Given the description of an element on the screen output the (x, y) to click on. 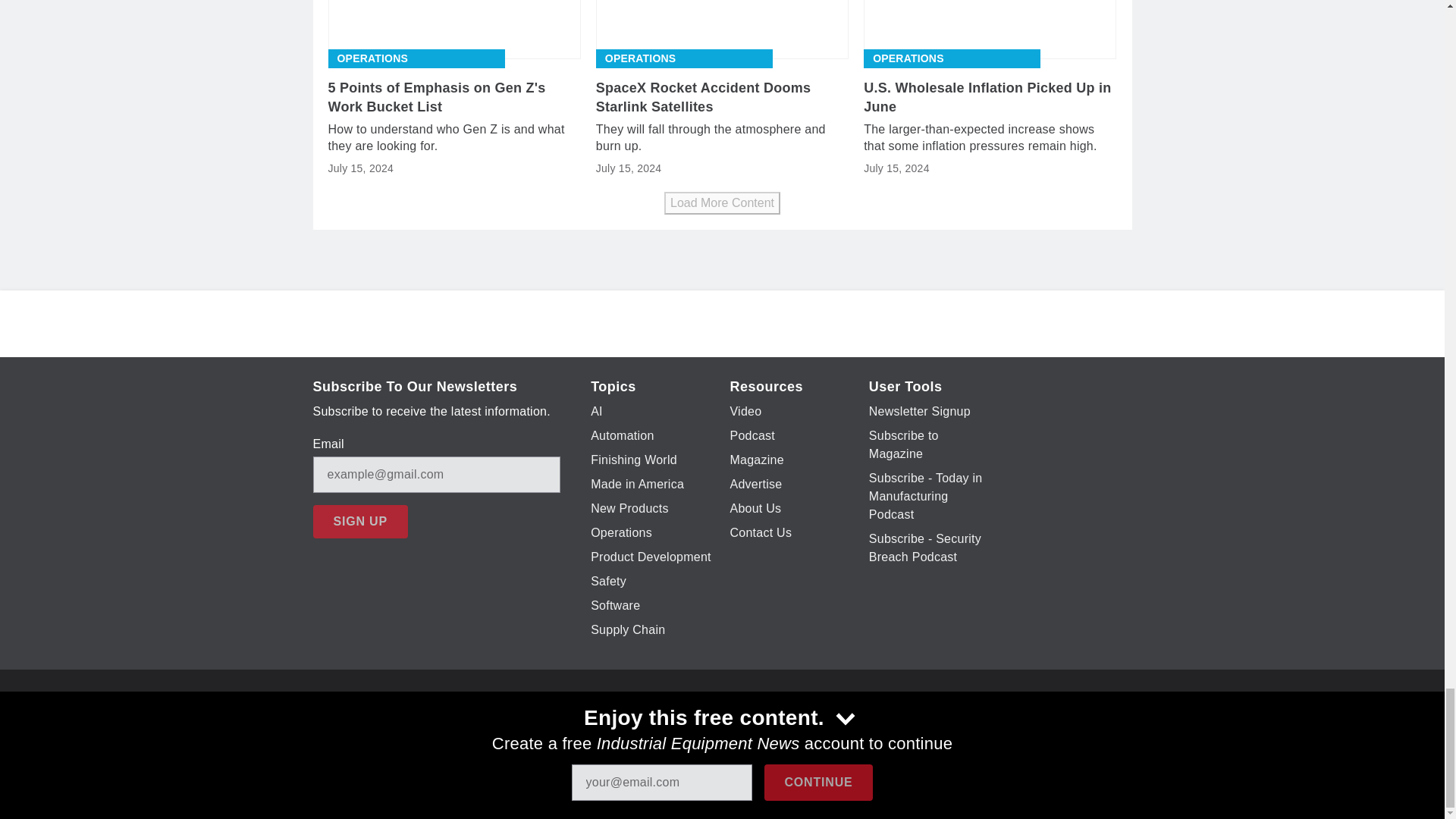
YouTube icon (696, 727)
Facebook icon (617, 727)
Instagram icon (735, 727)
LinkedIn icon (775, 727)
Twitter X icon (656, 727)
